Given the description of an element on the screen output the (x, y) to click on. 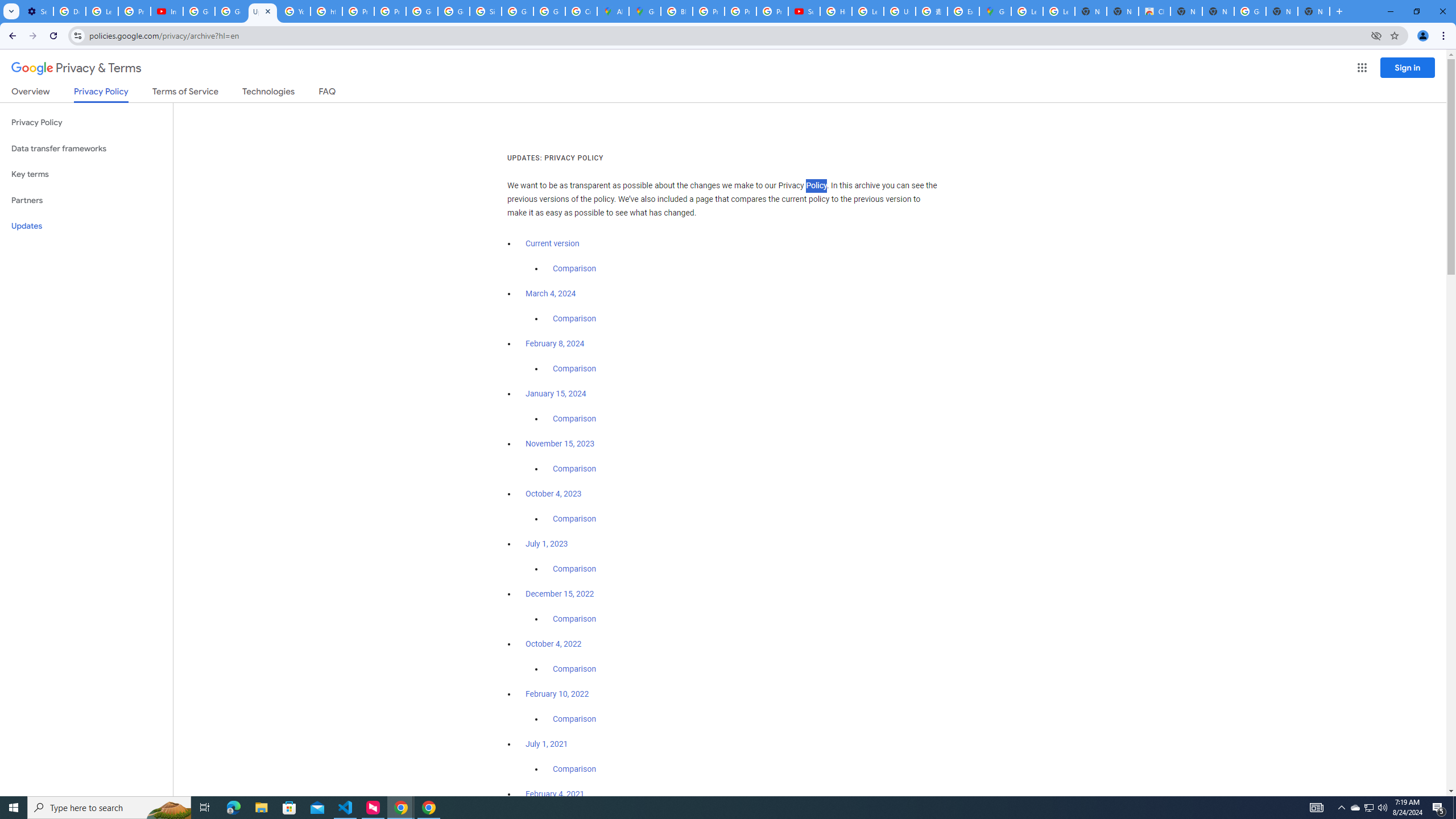
How Chrome protects your passwords - Google Chrome Help (836, 11)
March 4, 2024 (550, 293)
October 4, 2022 (553, 643)
February 8, 2024 (555, 343)
Introduction | Google Privacy Policy - YouTube (166, 11)
Key terms (86, 174)
